Given the description of an element on the screen output the (x, y) to click on. 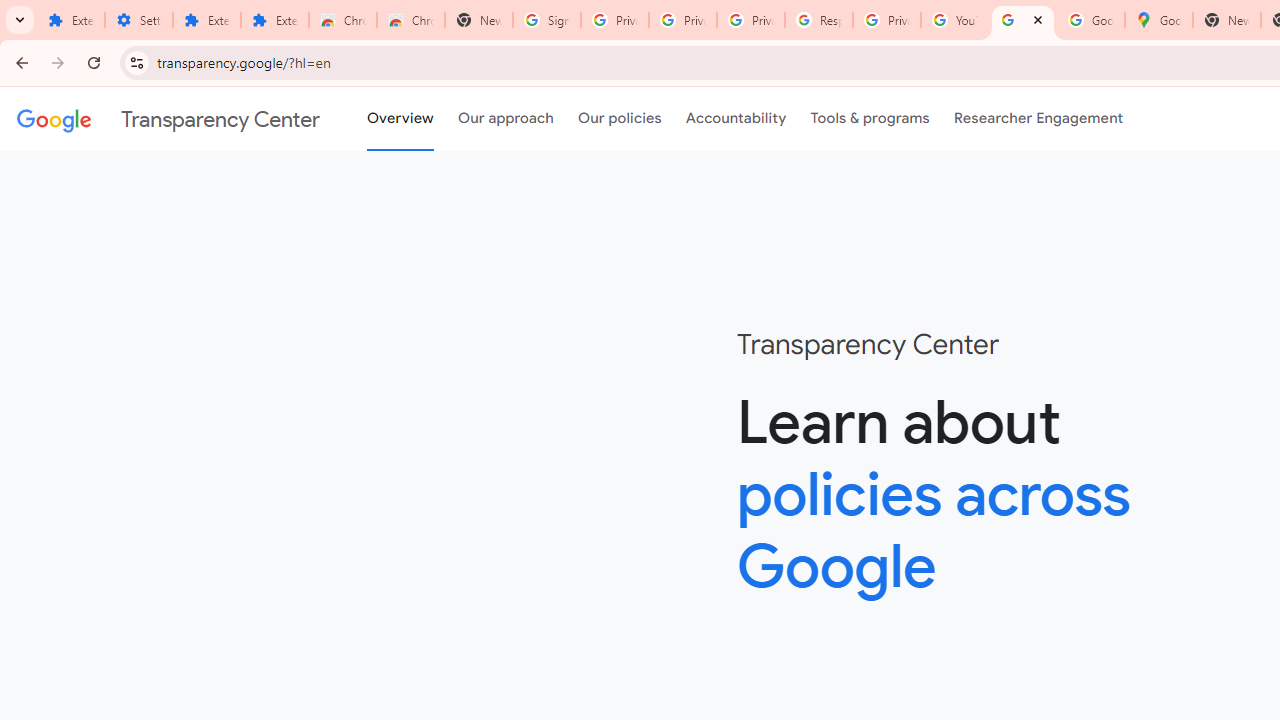
Our policies (619, 119)
Extensions (70, 20)
Extensions (274, 20)
